Given the description of an element on the screen output the (x, y) to click on. 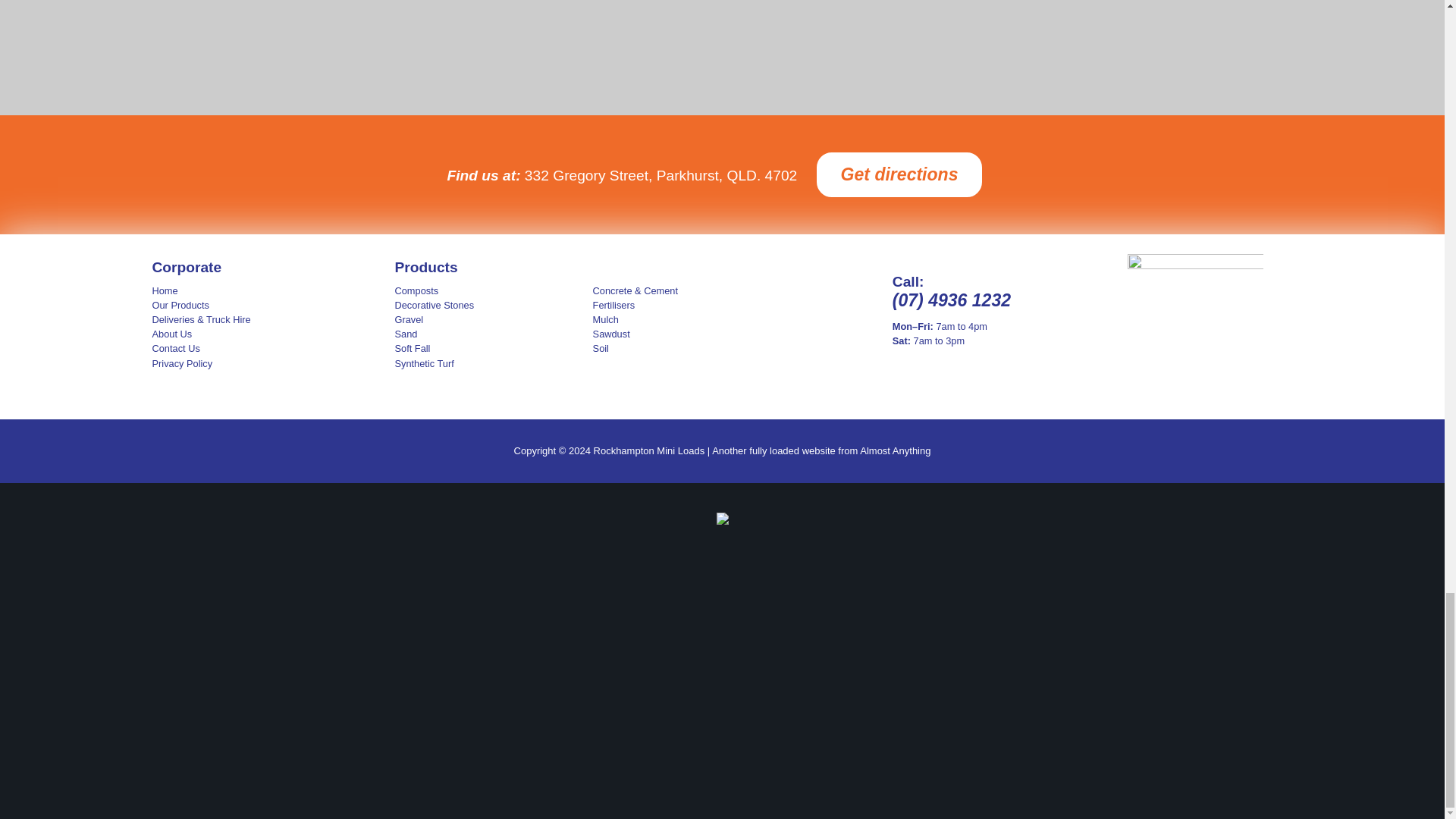
Get directions (899, 174)
Sand (491, 333)
Our Products (236, 305)
Decorative Stones (491, 305)
Fertilisers (689, 305)
Soft Fall (491, 348)
Gravel (491, 319)
Privacy Policy (236, 363)
About Us (236, 333)
Composts (491, 290)
